Given the description of an element on the screen output the (x, y) to click on. 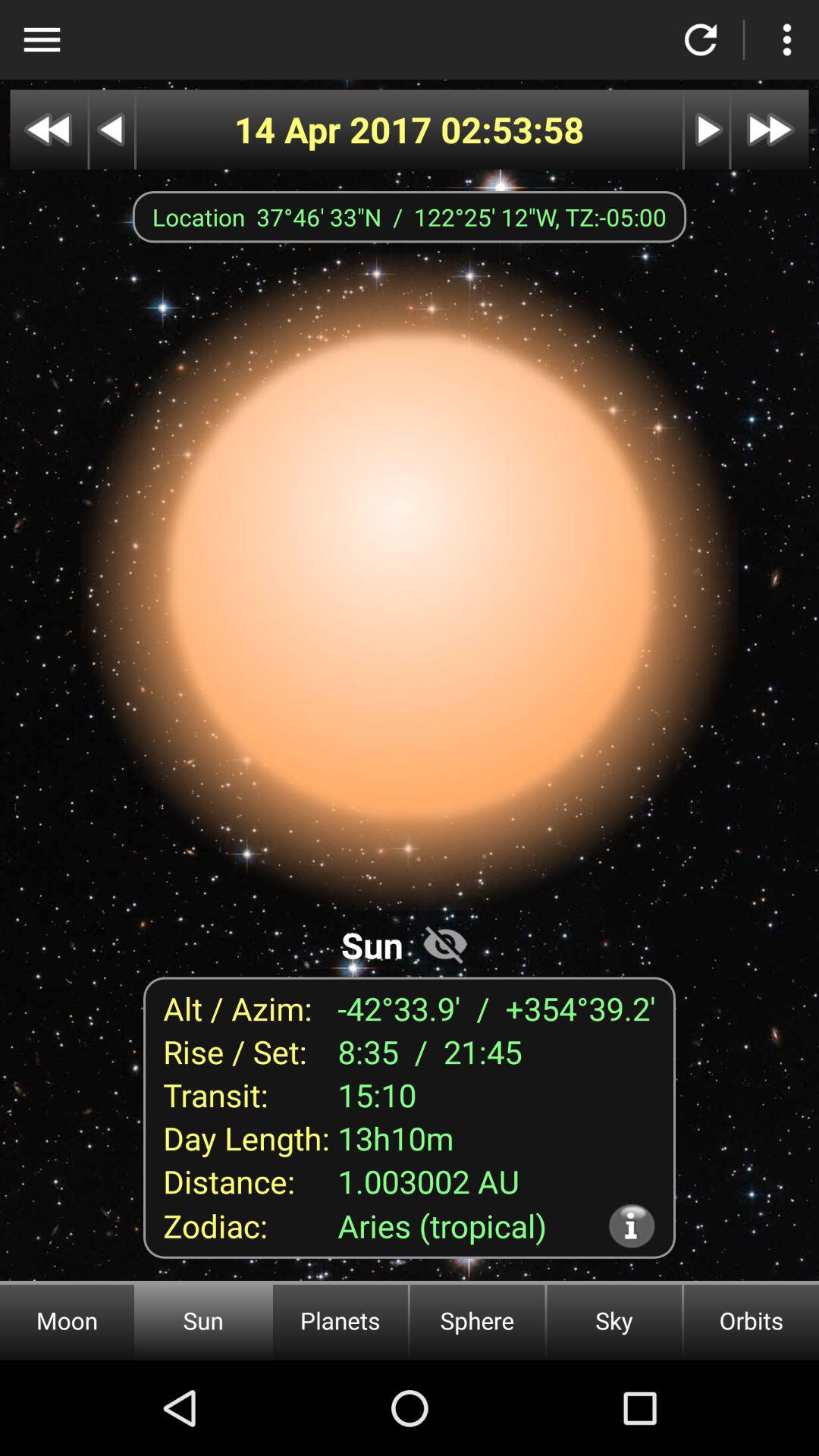
info about zodiac (631, 1225)
